Given the description of an element on the screen output the (x, y) to click on. 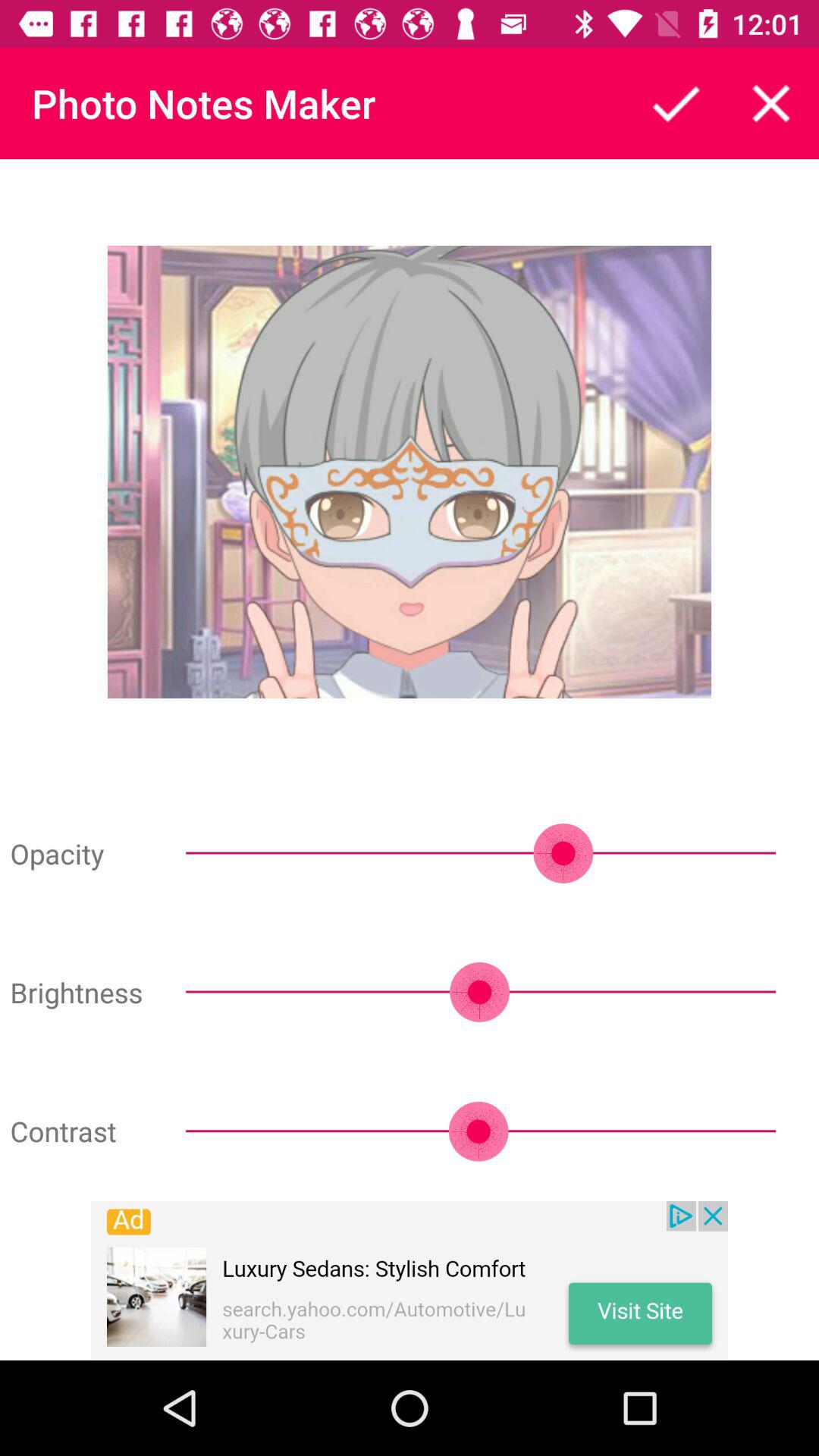
open advertisement (409, 1280)
